Given the description of an element on the screen output the (x, y) to click on. 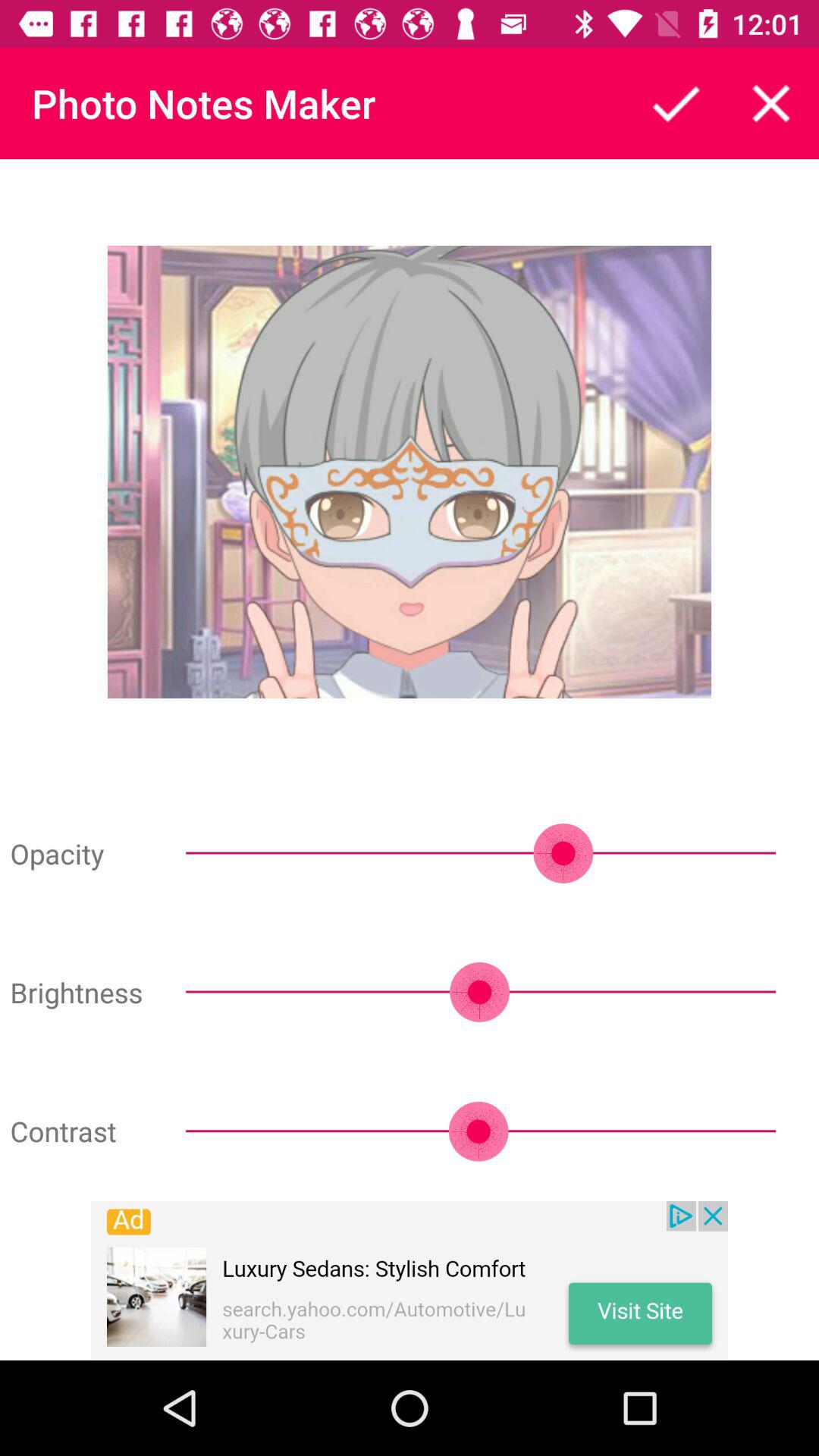
open advertisement (409, 1280)
